Given the description of an element on the screen output the (x, y) to click on. 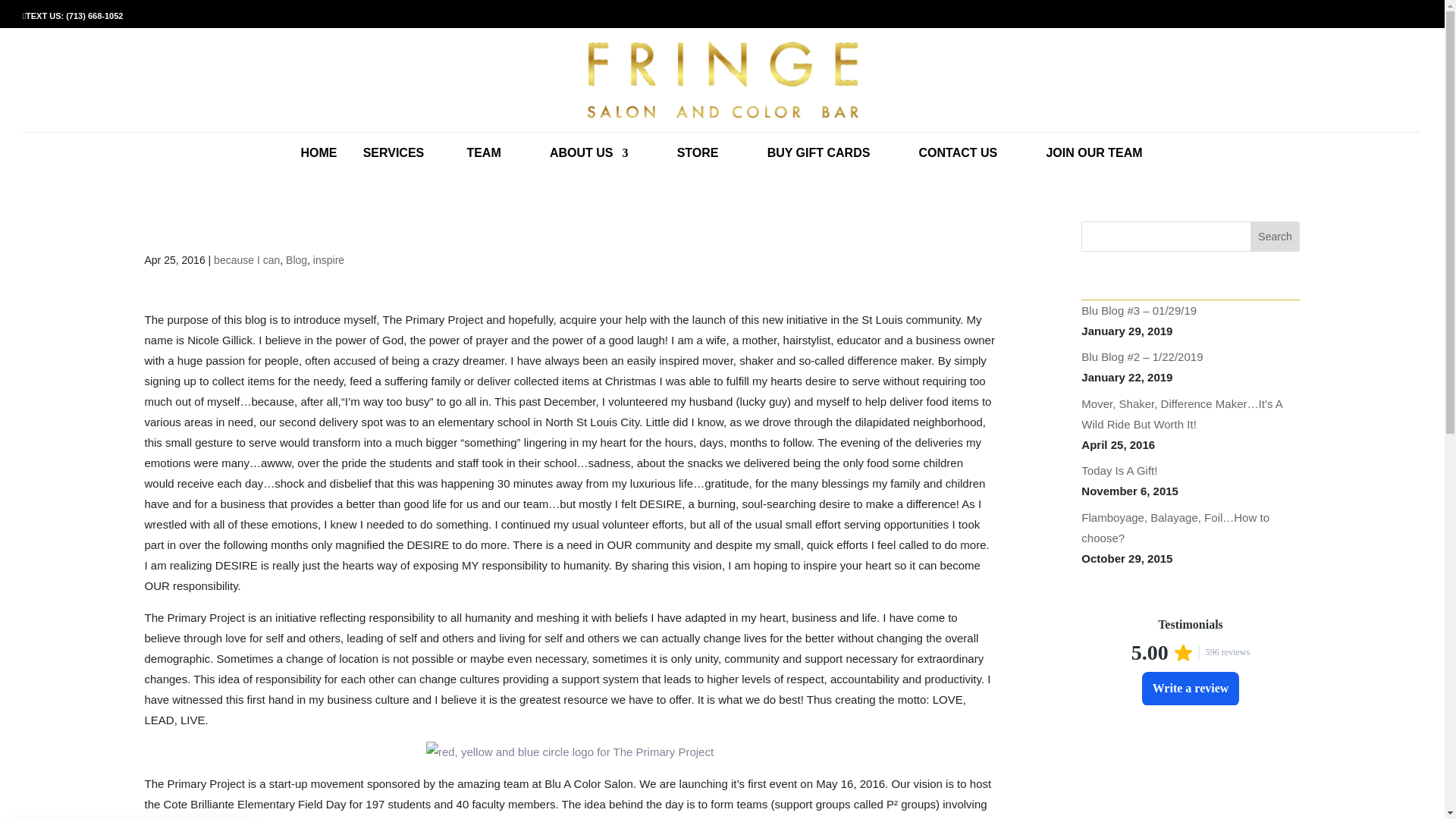
CONTACT US (957, 162)
inspire (328, 259)
HOME (317, 162)
Search (1275, 236)
STORE (698, 162)
ABOUT US (589, 162)
JOIN OUR TEAM (1093, 162)
Search (1275, 236)
BUY GIFT CARDS (818, 162)
SERVICES (393, 162)
TEAM (482, 162)
because I can (246, 259)
Blog (296, 259)
Today Is A Gift! (1119, 470)
